Given the description of an element on the screen output the (x, y) to click on. 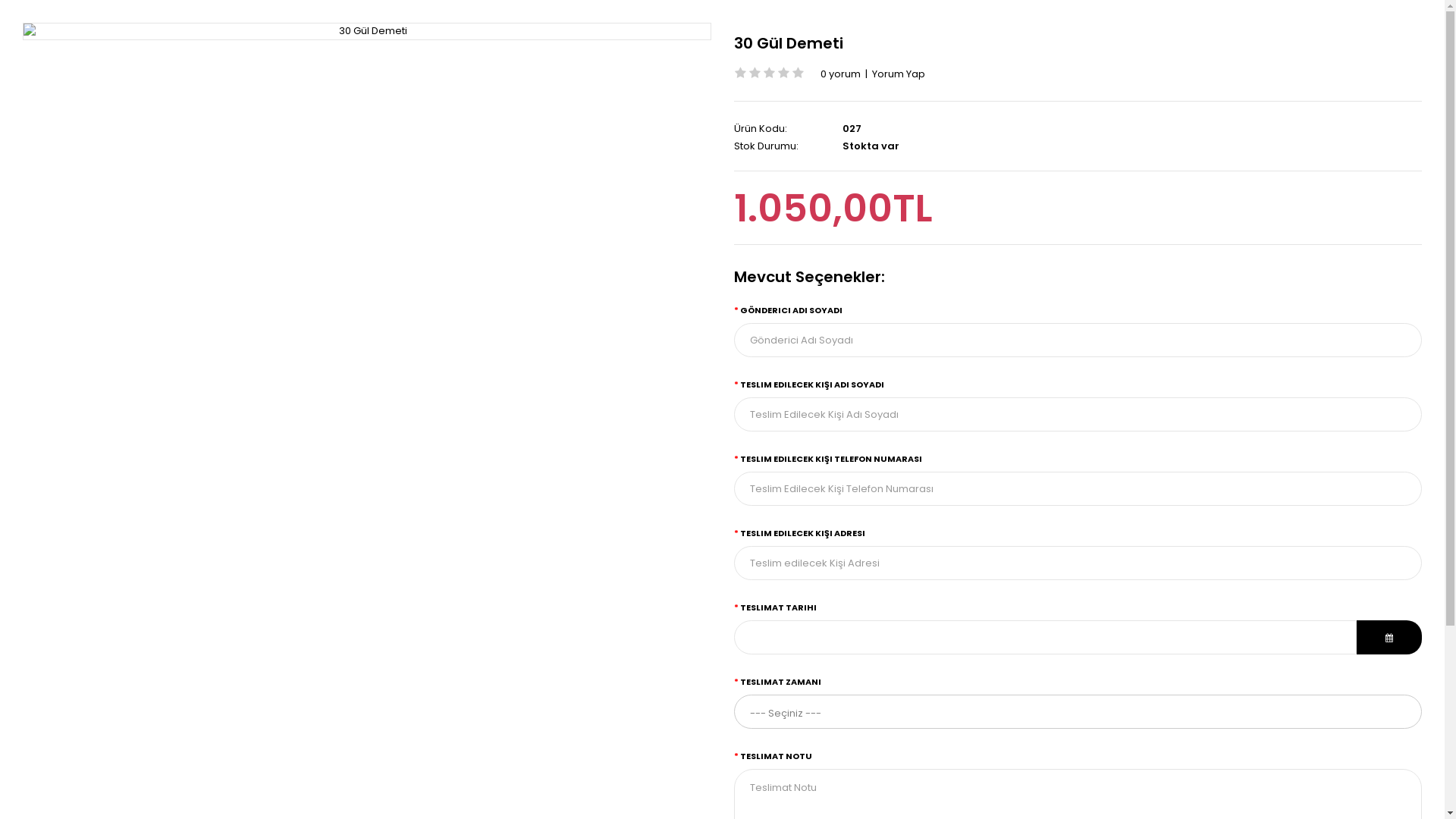
0 yorum Element type: text (840, 73)
Yorum Yap Element type: text (898, 73)
